Given the description of an element on the screen output the (x, y) to click on. 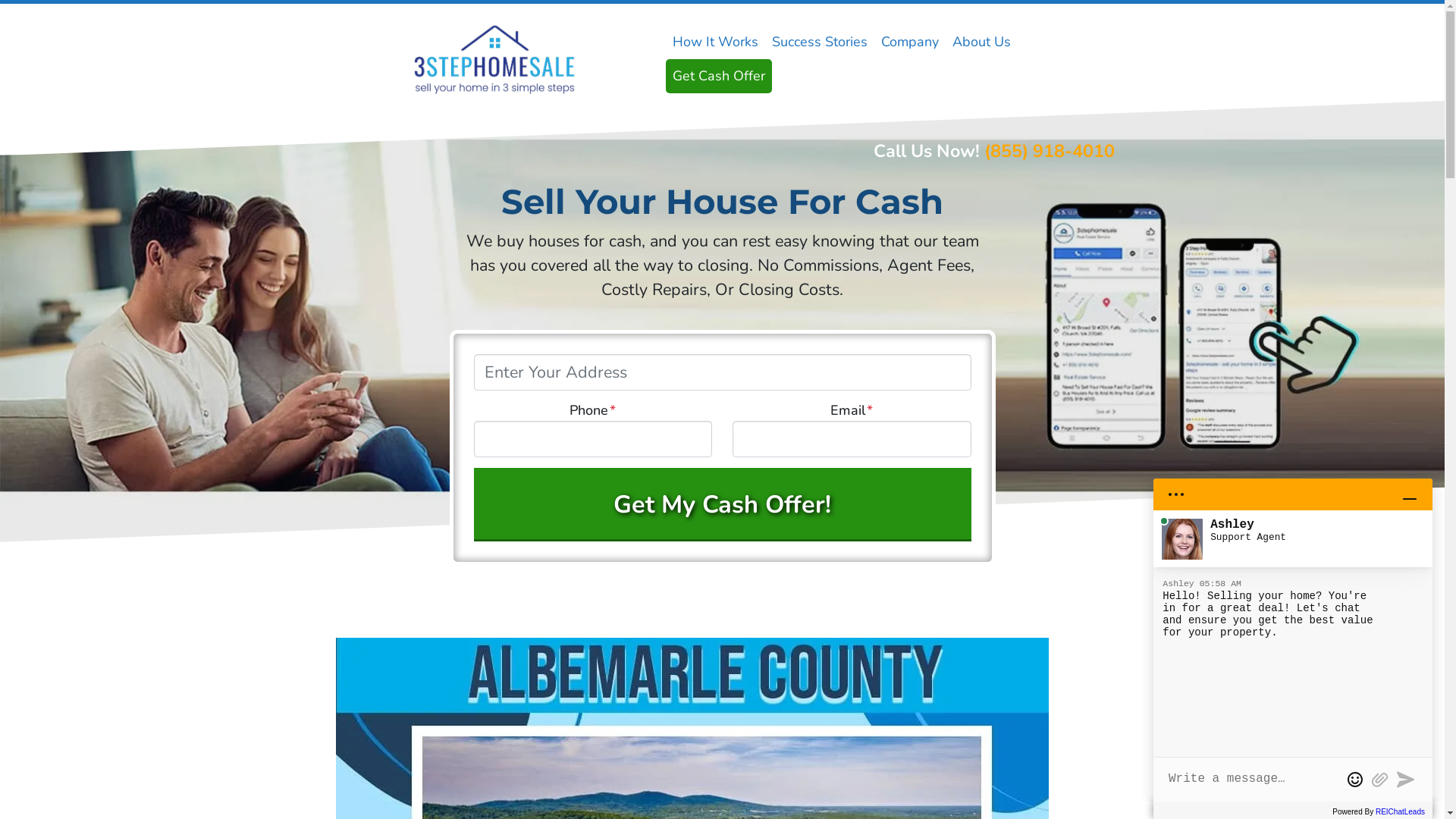
About Us Element type: text (980, 42)
Get Cash Offer Element type: text (718, 76)
REIChatLeads Element type: text (1399, 811)
Company Element type: text (908, 42)
Get My Cash Offer! Element type: text (721, 504)
How It Works Element type: text (715, 42)
LiveChat chat widget Element type: hover (1292, 633)
Success Stories Element type: text (818, 42)
(855) 918-4010 Element type: text (1049, 150)
